Given the description of an element on the screen output the (x, y) to click on. 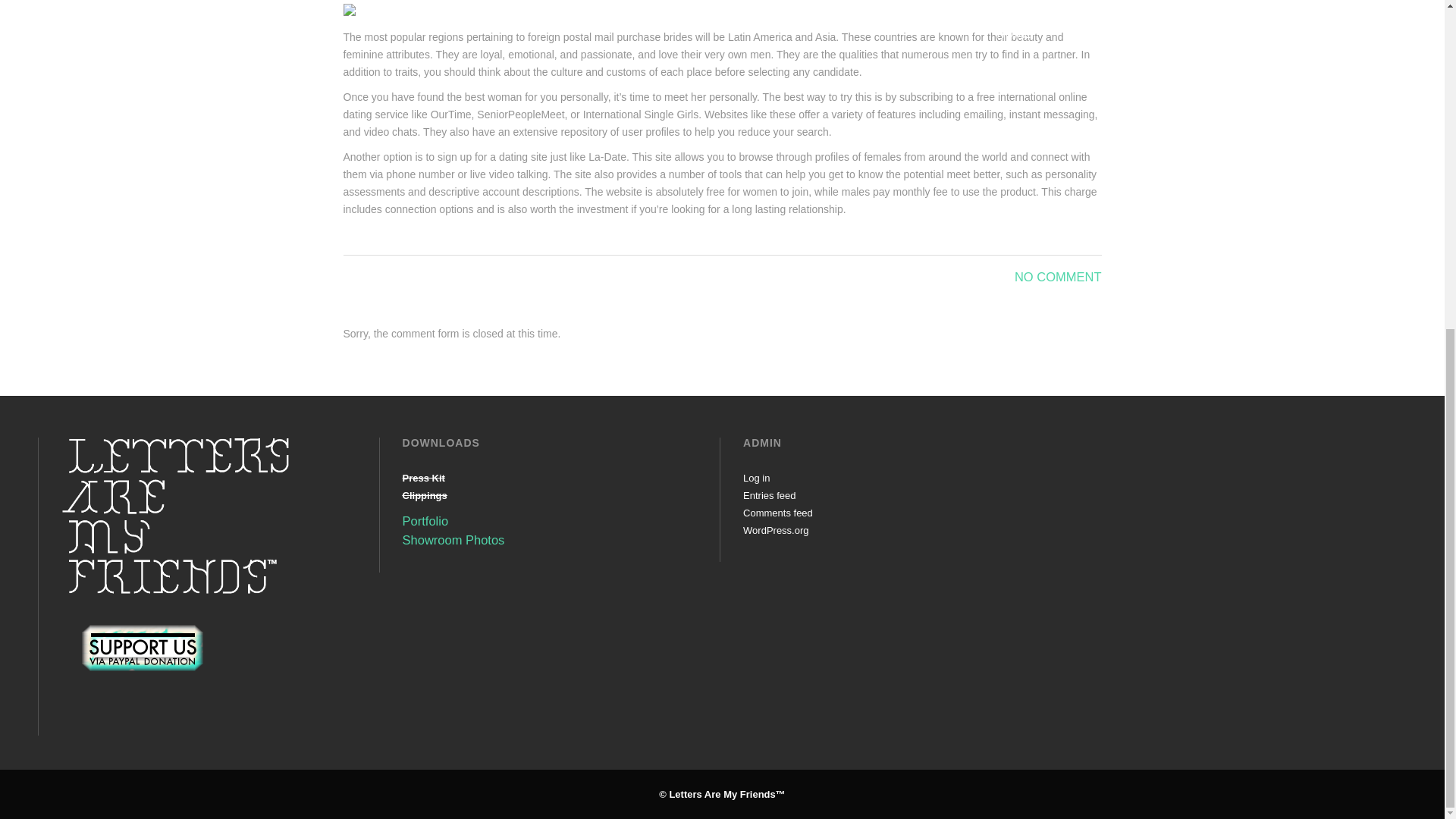
Portfolio (425, 520)
Log in (756, 478)
Showroom Photos (454, 540)
Entries feed (768, 495)
NO COMMENT (1058, 276)
WordPress.org (775, 530)
Comments feed (777, 512)
